Given the description of an element on the screen output the (x, y) to click on. 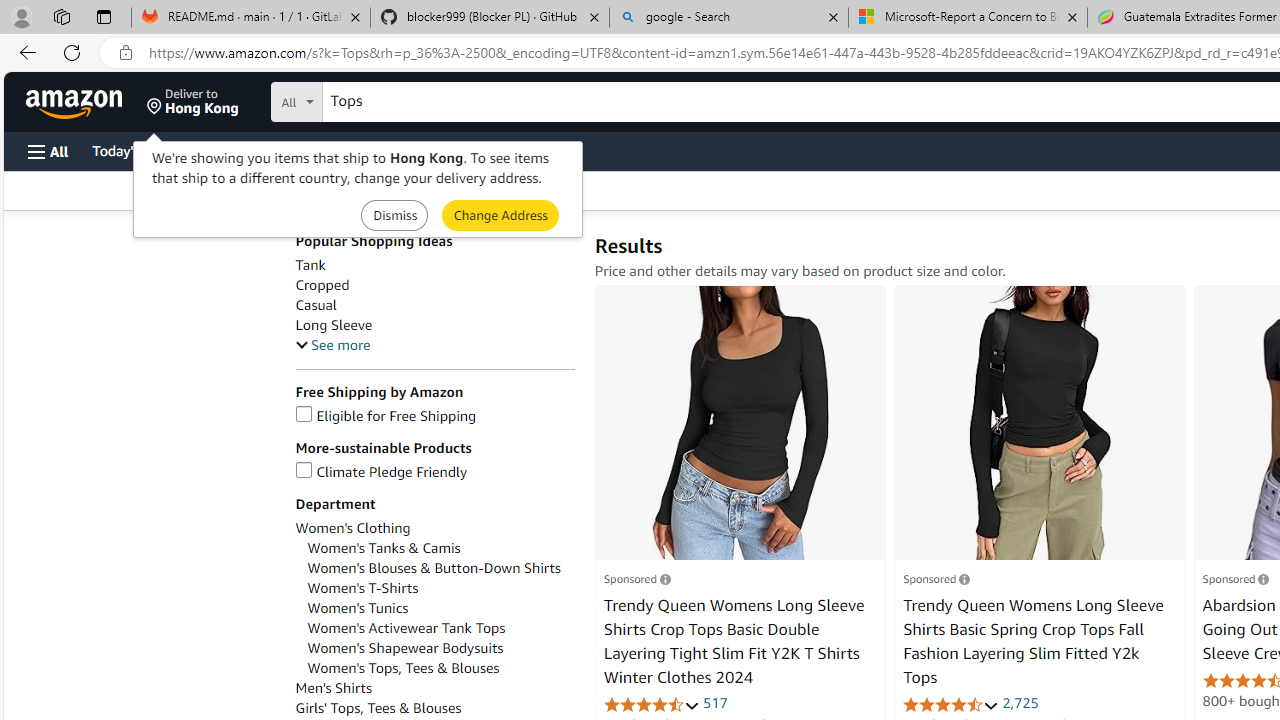
517 (715, 702)
Women's Tops, Tees & Blouses (403, 668)
Customer Service (256, 150)
Men's Shirts (333, 687)
Registry (360, 150)
Women's Blouses & Button-Down Shirts (440, 568)
Women's Clothing (434, 528)
Women's Activewear Tank Tops (406, 628)
